Given the description of an element on the screen output the (x, y) to click on. 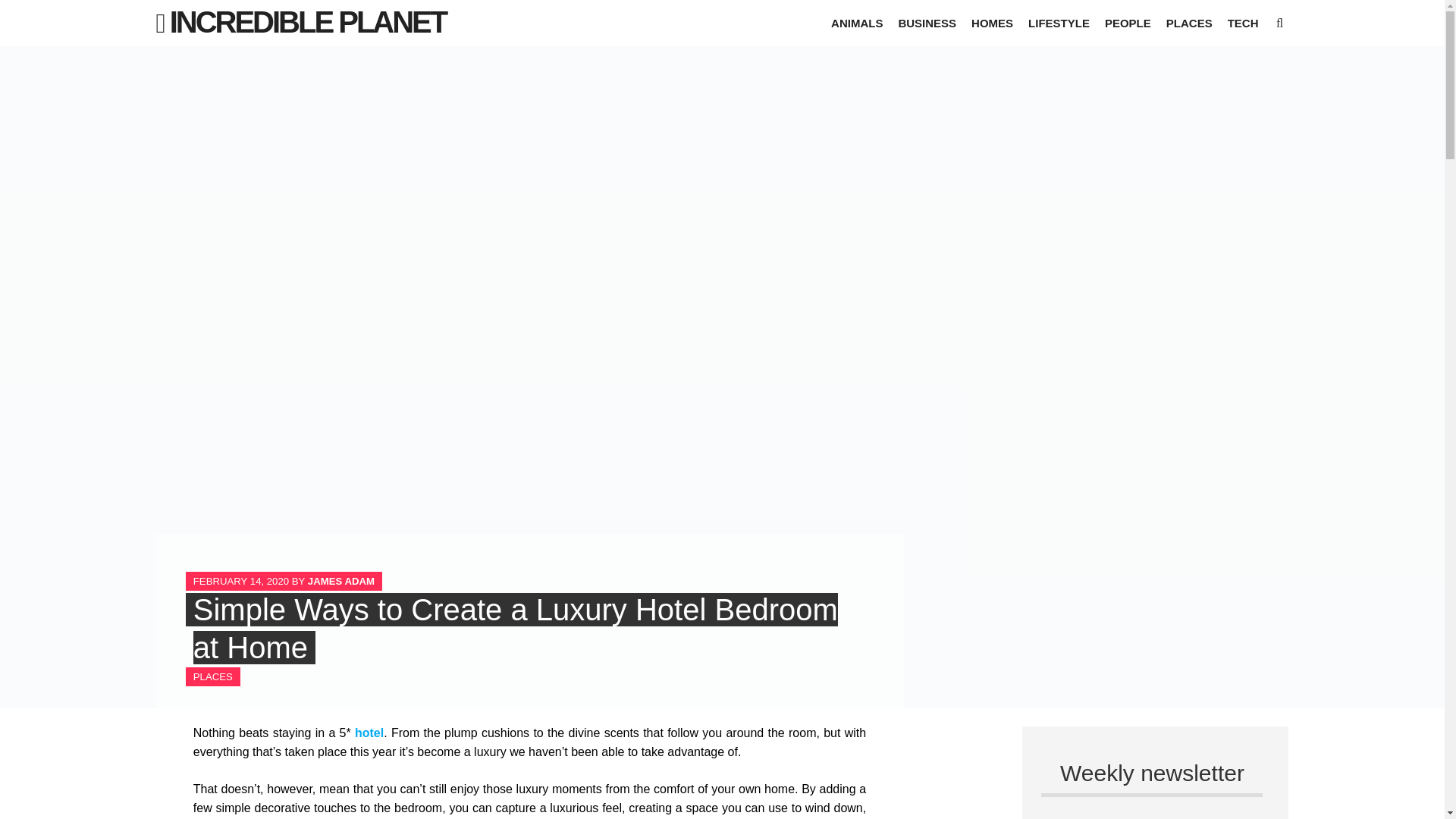
FEBRUARY 14, 2020 (240, 581)
PLACES (212, 676)
BUSINESS (927, 22)
PEOPLE (1128, 22)
INCREDIBLE PLANET (308, 21)
LIFESTYLE (1058, 22)
JAMES ADAM (340, 581)
Search (25, 11)
hotel (369, 732)
Simple Ways to Create a Luxury Hotel Bedroom at Home (515, 628)
